Given the description of an element on the screen output the (x, y) to click on. 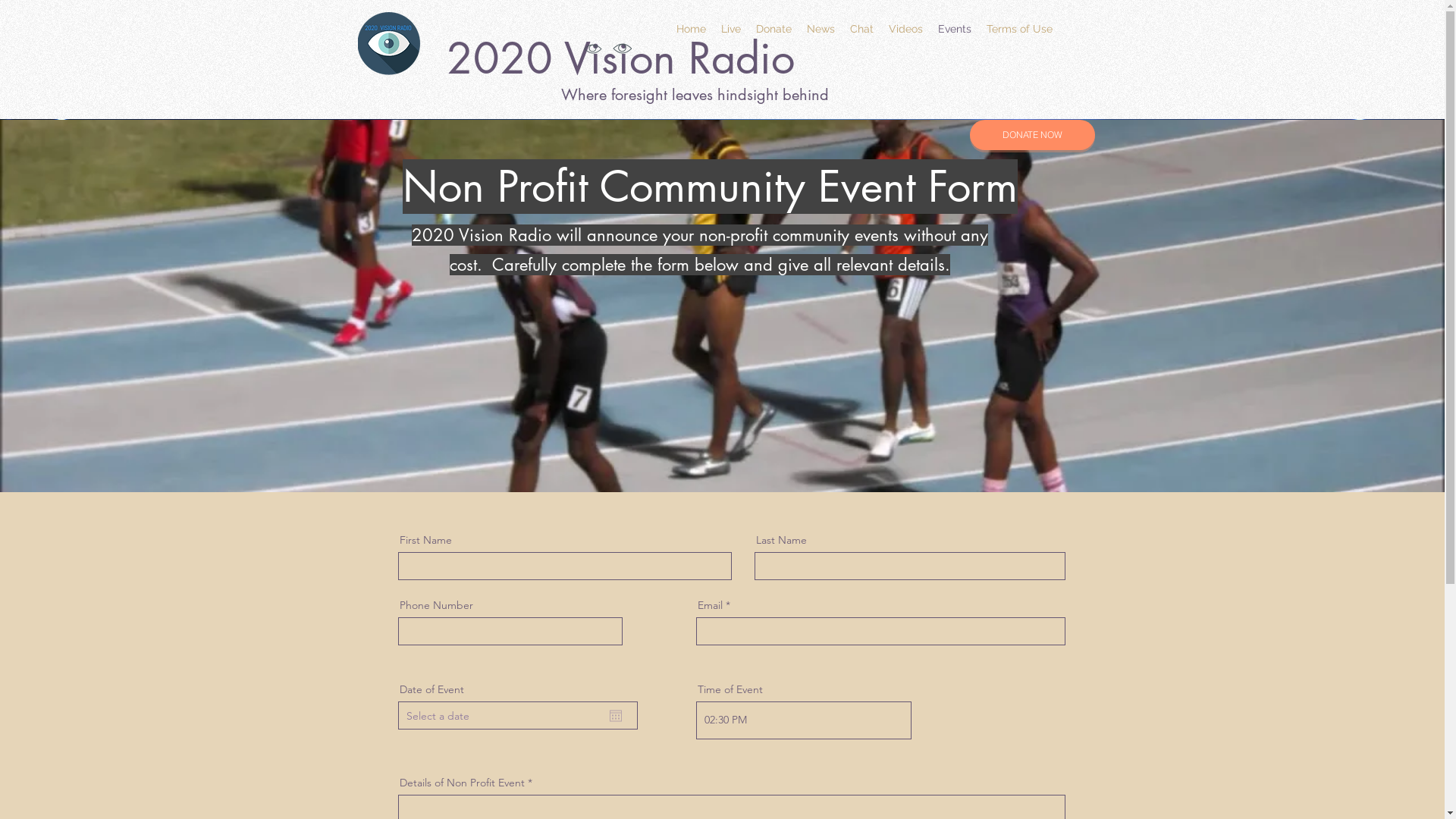
News Element type: text (820, 29)
Videos Element type: text (905, 29)
Live Element type: text (729, 29)
Home Element type: text (690, 29)
DONATE NOW Element type: text (1031, 134)
Events Element type: text (953, 29)
Chat Element type: text (860, 29)
Terms of Use Element type: text (1018, 29)
Donate Element type: text (772, 29)
